Given the description of an element on the screen output the (x, y) to click on. 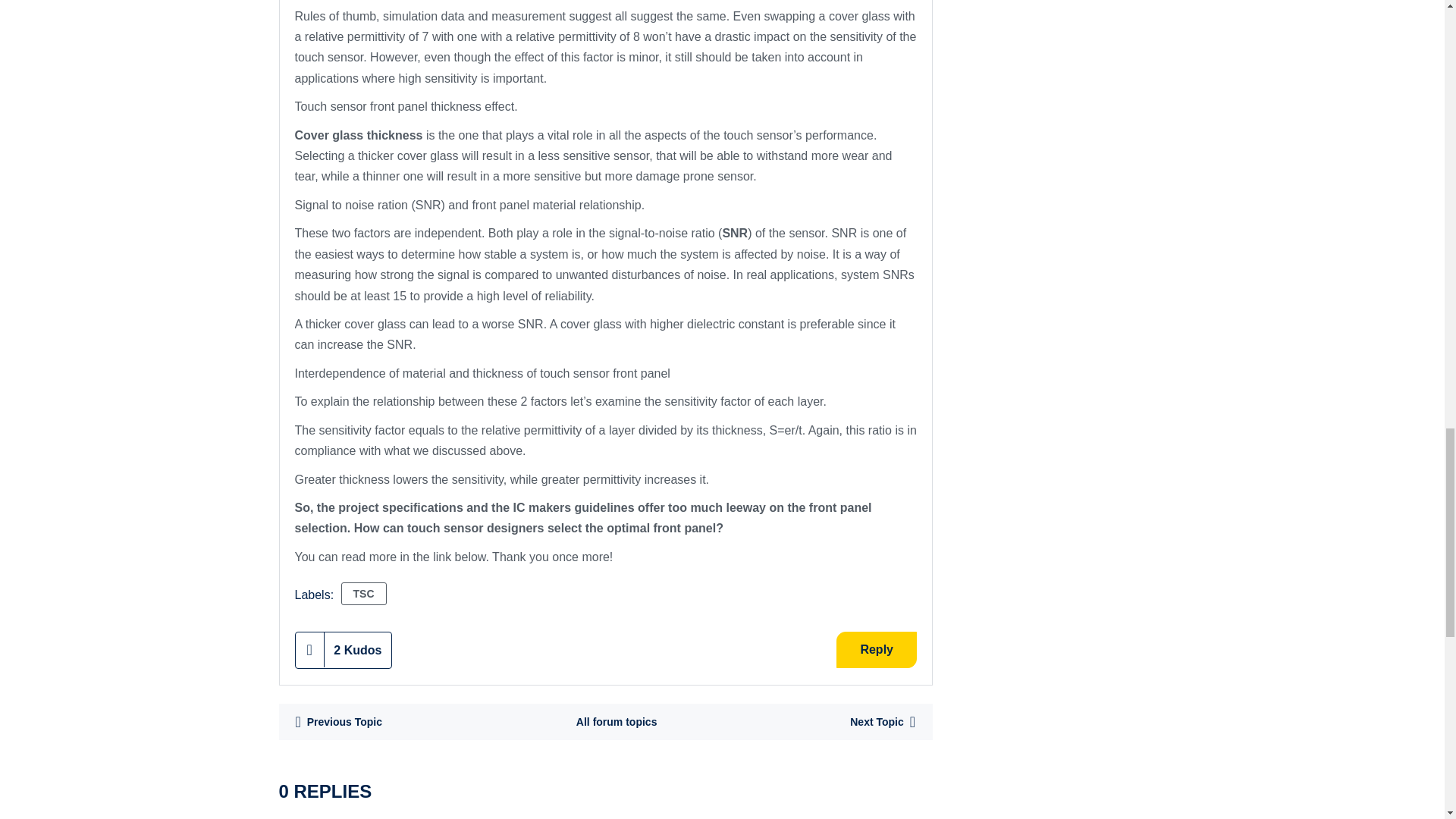
Is possible to programm the STM32f051 through RS485 or UART? (338, 721)
STM32 MCUs products (616, 721)
Click here to see who gave kudos to this post. (357, 650)
